Given the description of an element on the screen output the (x, y) to click on. 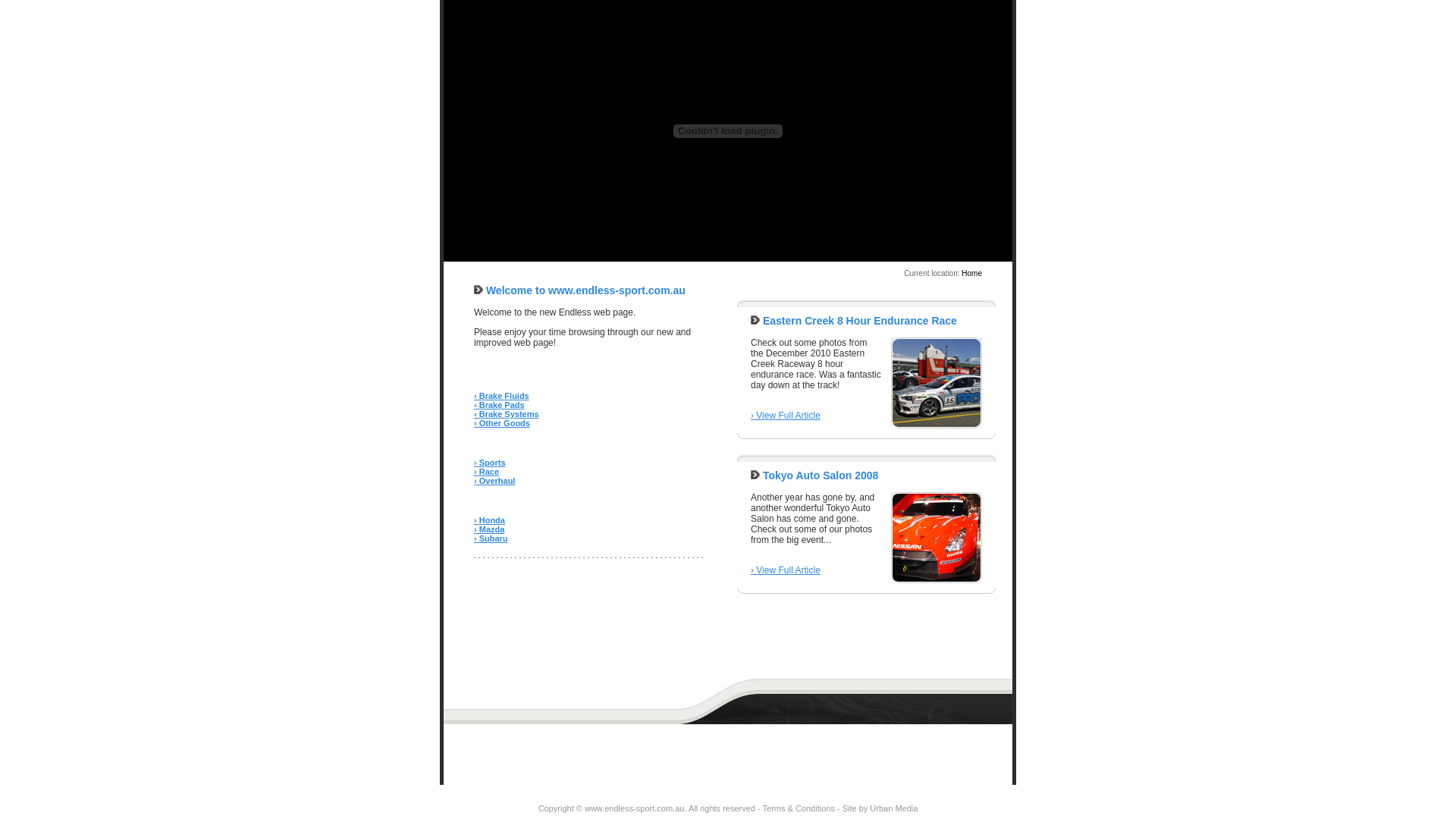
www.endless-sport.com.au Element type: text (634, 807)
Terms & Conditions Element type: text (798, 807)
Urban Media Element type: text (893, 807)
